Given the description of an element on the screen output the (x, y) to click on. 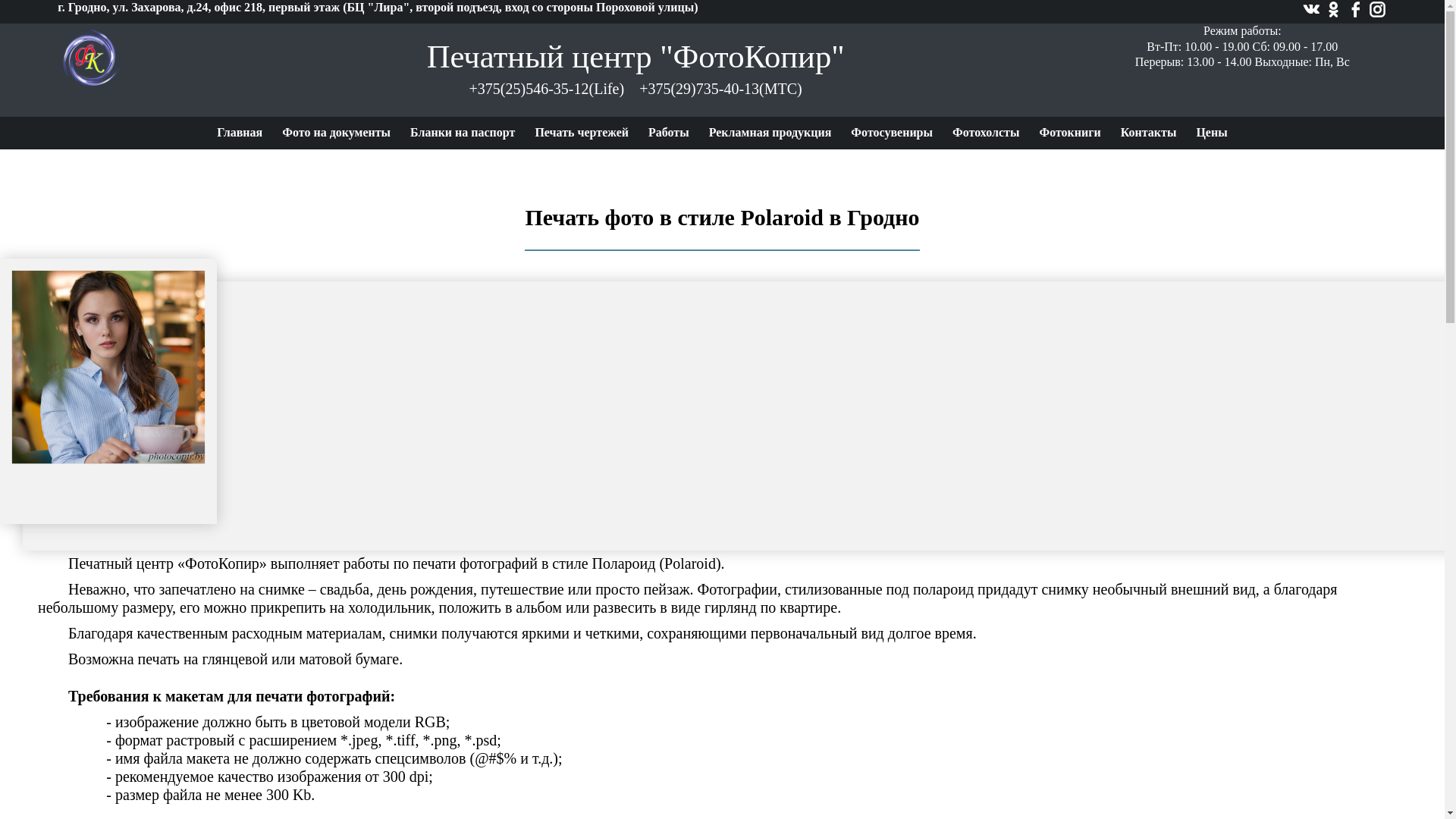
+375(25)546-35-12(Life) Element type: text (546, 88)
